Given the description of an element on the screen output the (x, y) to click on. 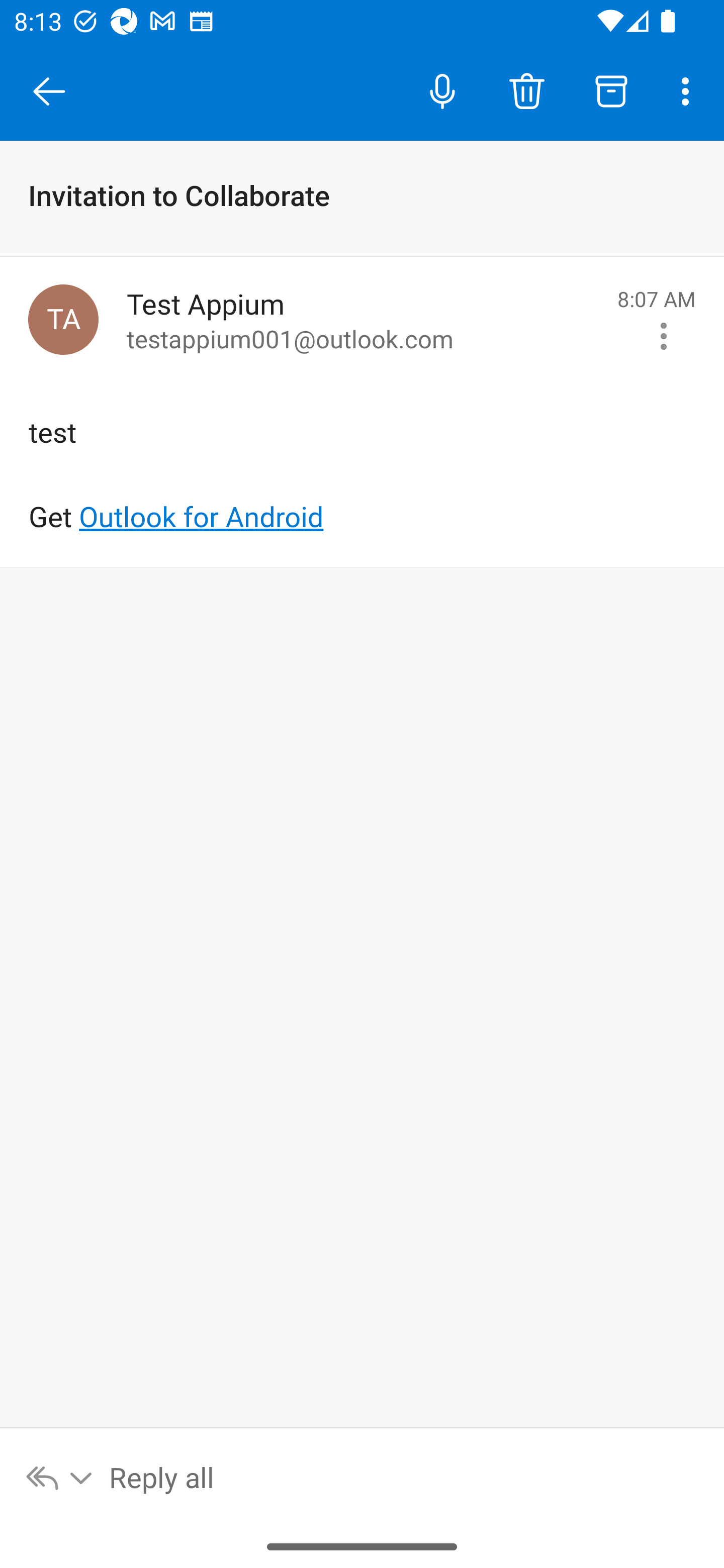
Close (49, 91)
Delete (526, 90)
Archive (611, 90)
More options (688, 90)
Test Appium, testappium002@outlook.com (63, 318)
Test Appium
to testappium001@outlook.com (364, 319)
Message actions (663, 336)
Reply options (59, 1476)
